Given the description of an element on the screen output the (x, y) to click on. 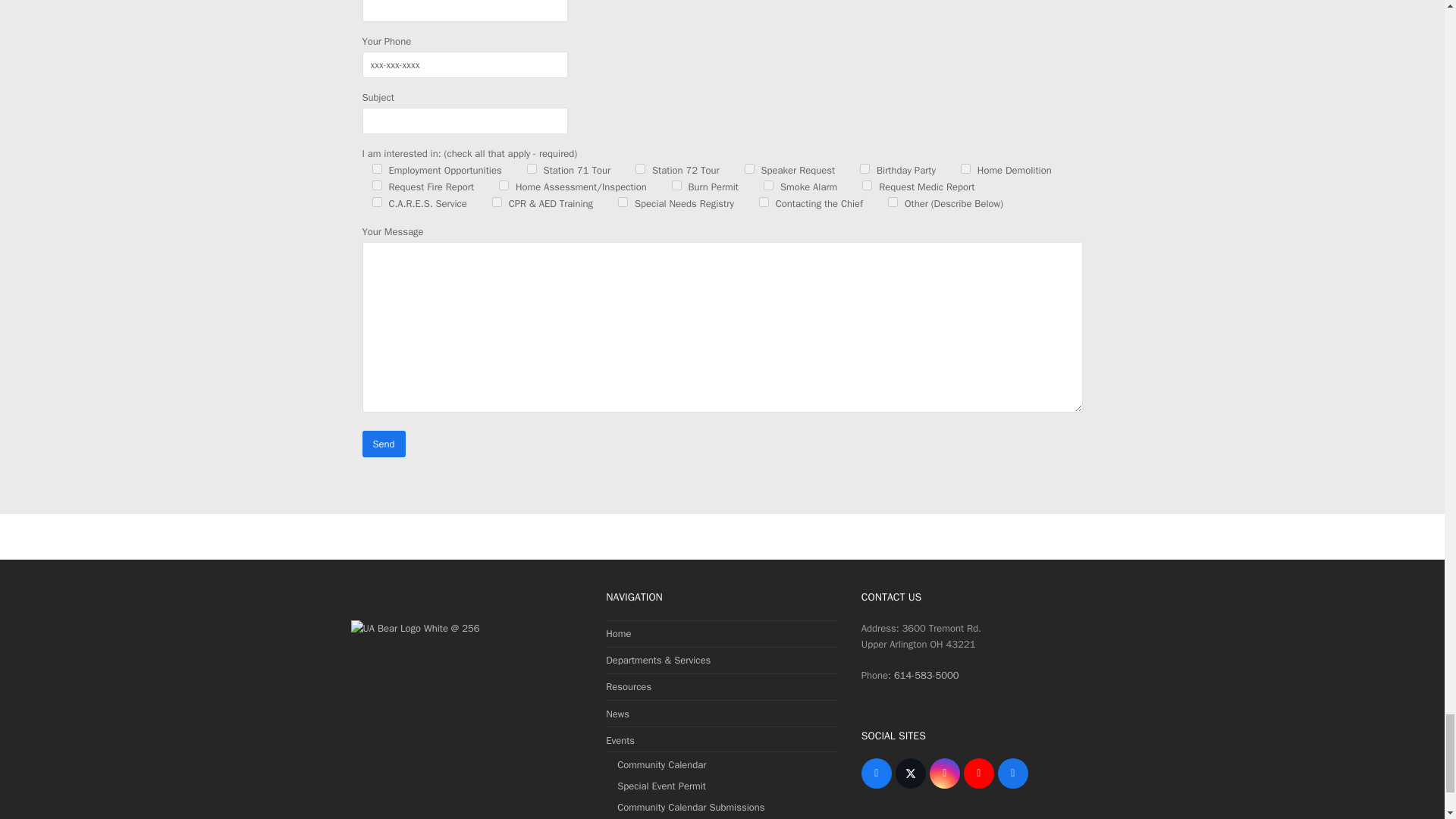
Facebook (876, 773)
Smoke Alarm (767, 185)
Station 72 Tour (639, 168)
Employment Opportunities (376, 168)
xxx-xxx-xxxx (464, 64)
Request Medic Report (866, 185)
C.A.R.E.S. Service (376, 202)
Special Needs Registry (622, 202)
Home Demolition (965, 168)
Contacting the Chief (763, 202)
Station 71 Tour (532, 168)
Birthday Party (864, 168)
Burn Permit (676, 185)
Request Fire Report (376, 185)
Speaker Request (749, 168)
